Given the description of an element on the screen output the (x, y) to click on. 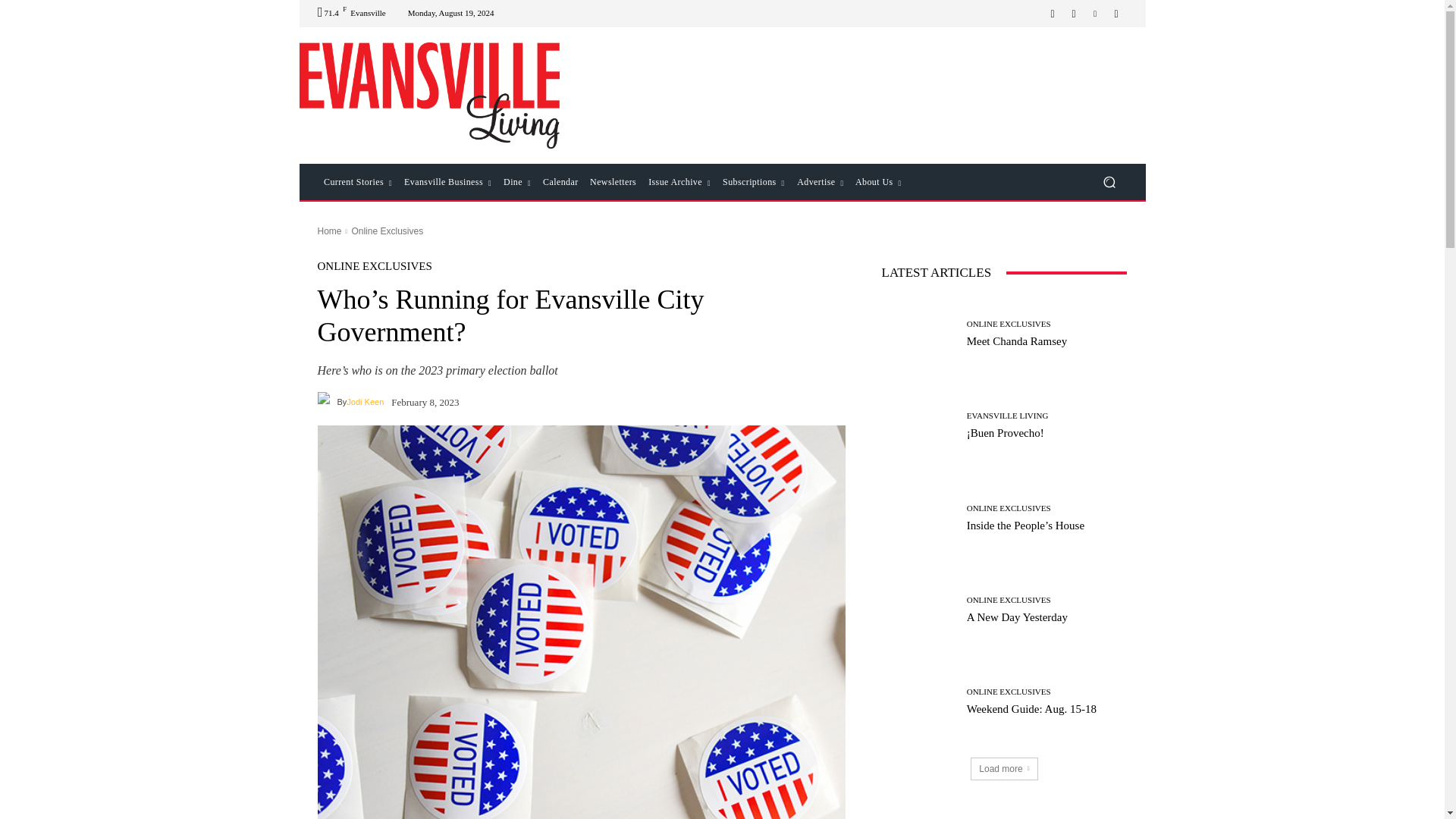
Facebook (1052, 13)
View all posts in Online Exclusives (386, 231)
Jodi Keen (326, 401)
Instagram (1073, 13)
Linkedin (1094, 13)
Twitter (1115, 13)
